Given the description of an element on the screen output the (x, y) to click on. 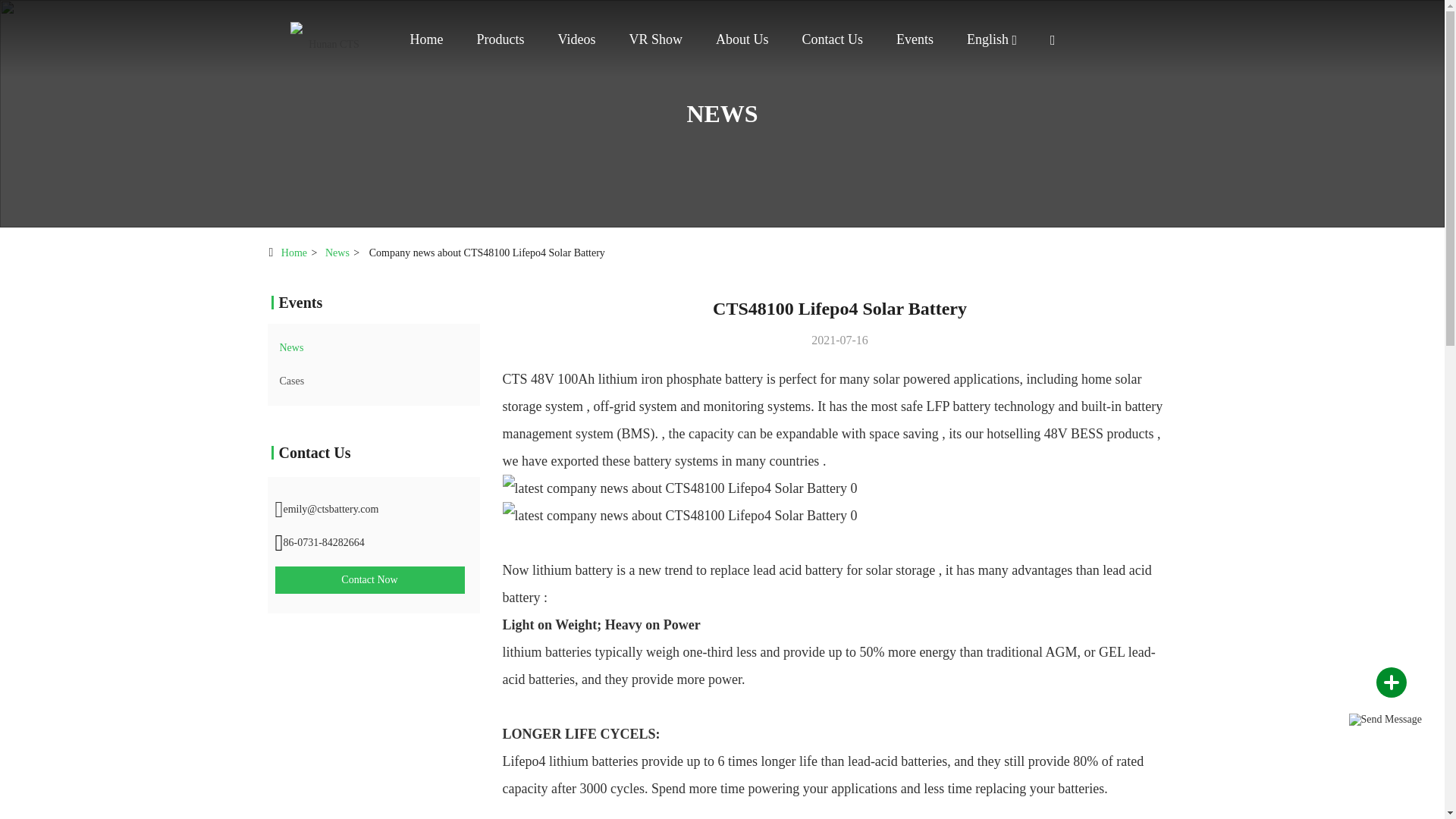
Contact Us (832, 39)
Products (500, 39)
Products (500, 39)
Home (327, 37)
About Us (742, 39)
VR Show (655, 39)
VR Show (655, 39)
